Given the description of an element on the screen output the (x, y) to click on. 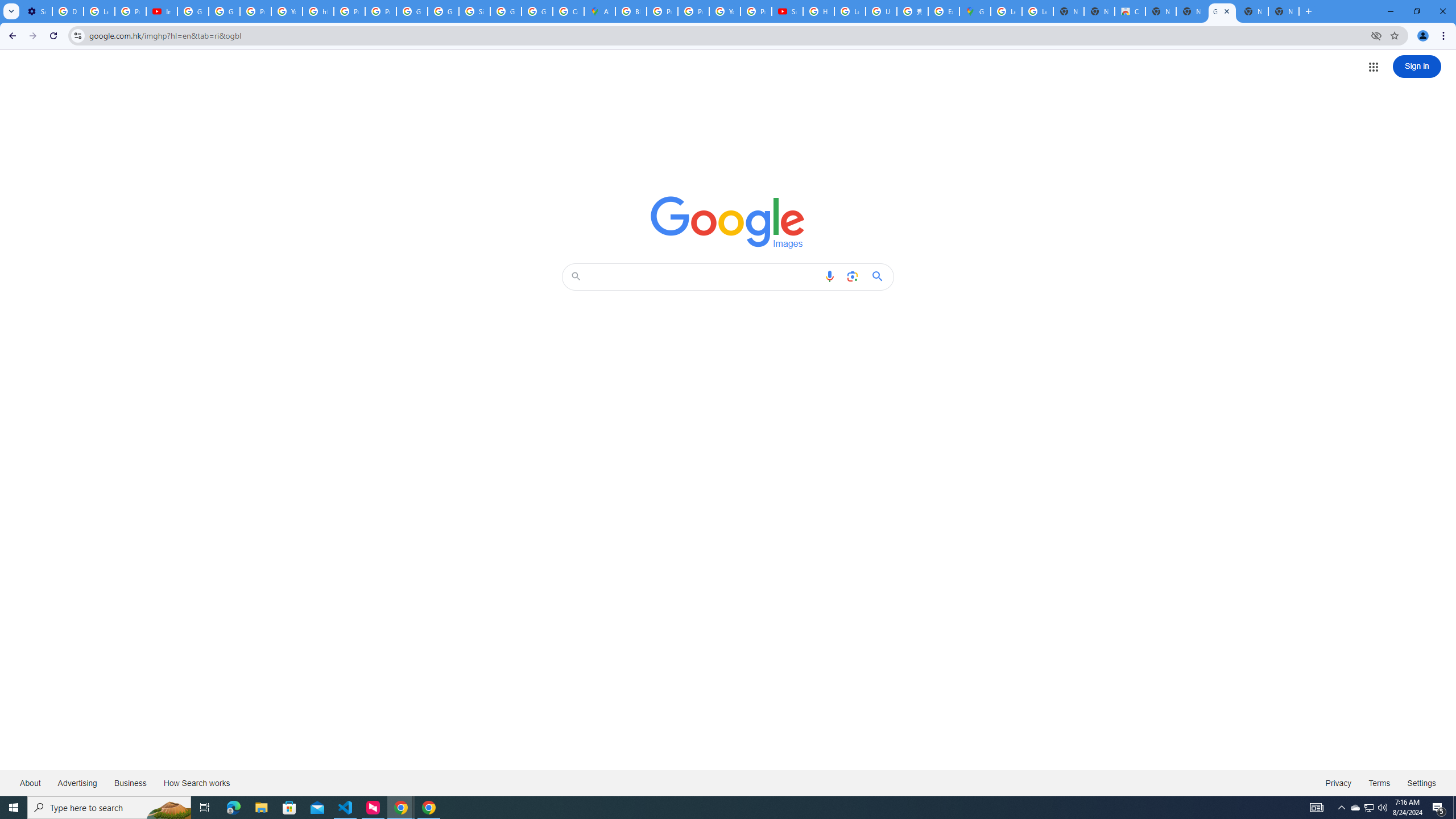
How Chrome protects your passwords - Google Chrome Help (818, 11)
Delete photos & videos - Computer - Google Photos Help (67, 11)
Google Maps (974, 11)
About (30, 782)
